Given the description of an element on the screen output the (x, y) to click on. 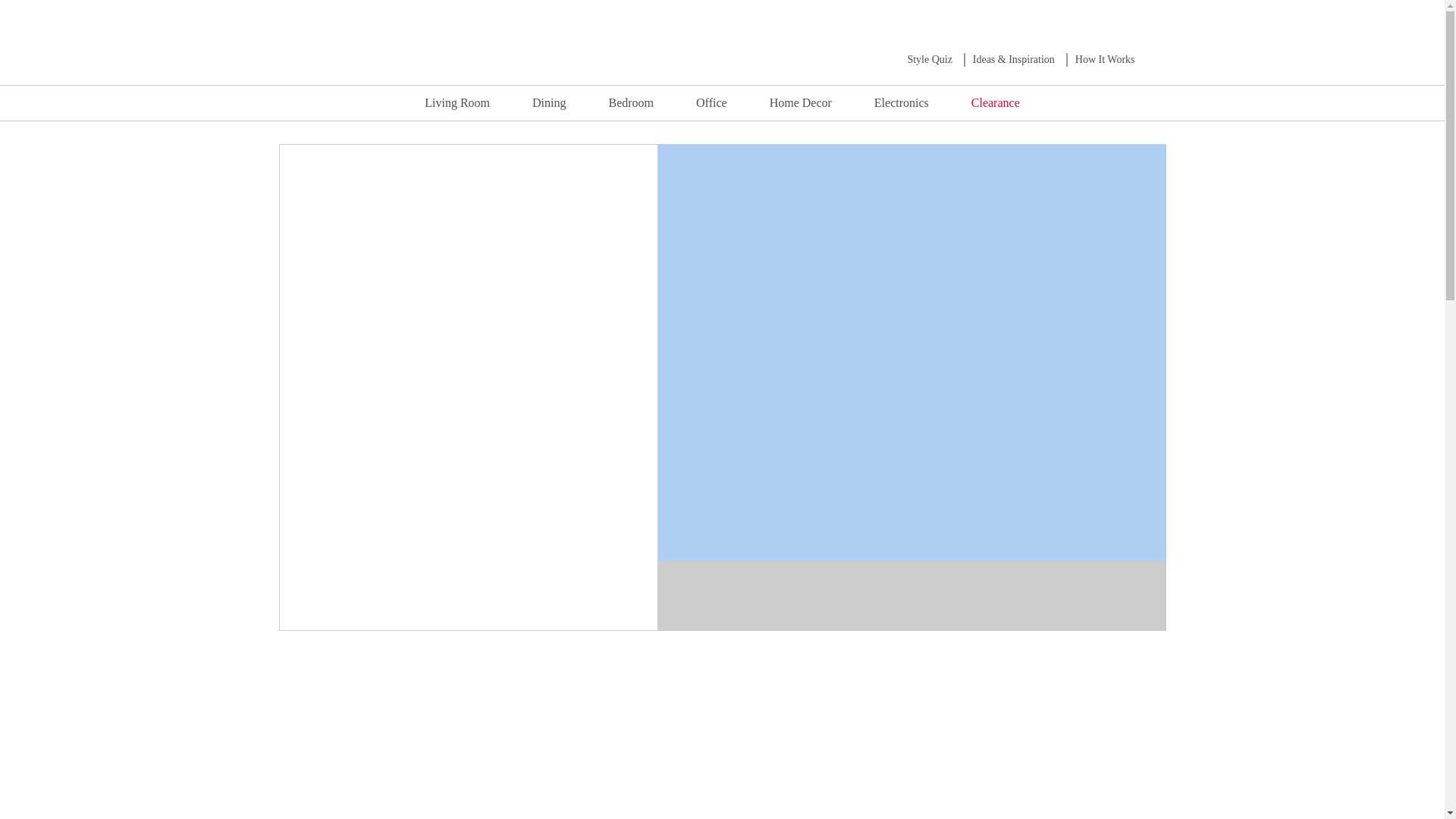
Electronics (901, 102)
Office (711, 102)
Dining (548, 102)
Style Quiz (929, 59)
Bedroom (630, 102)
Clearance (995, 102)
Home Decor (800, 102)
Living Room (457, 102)
How It Works (1106, 59)
